Given the description of an element on the screen output the (x, y) to click on. 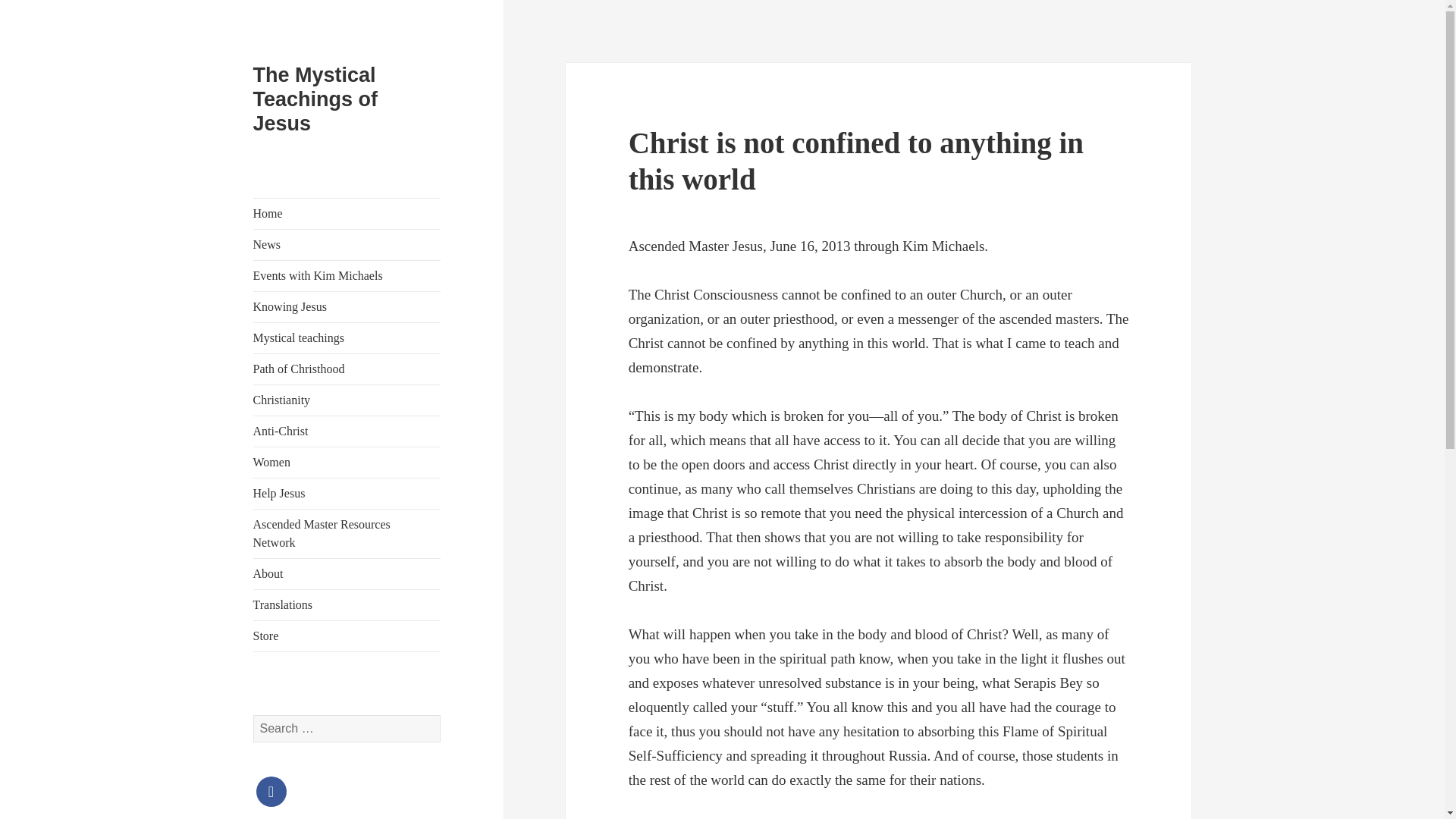
Events with Kim Michaels (347, 276)
Facebook (271, 789)
Knowing Jesus (347, 306)
Path of Christhood (347, 368)
Mystical teachings (347, 337)
News (347, 245)
Home (347, 214)
The Mystical Teachings of Jesus (315, 99)
